Given the description of an element on the screen output the (x, y) to click on. 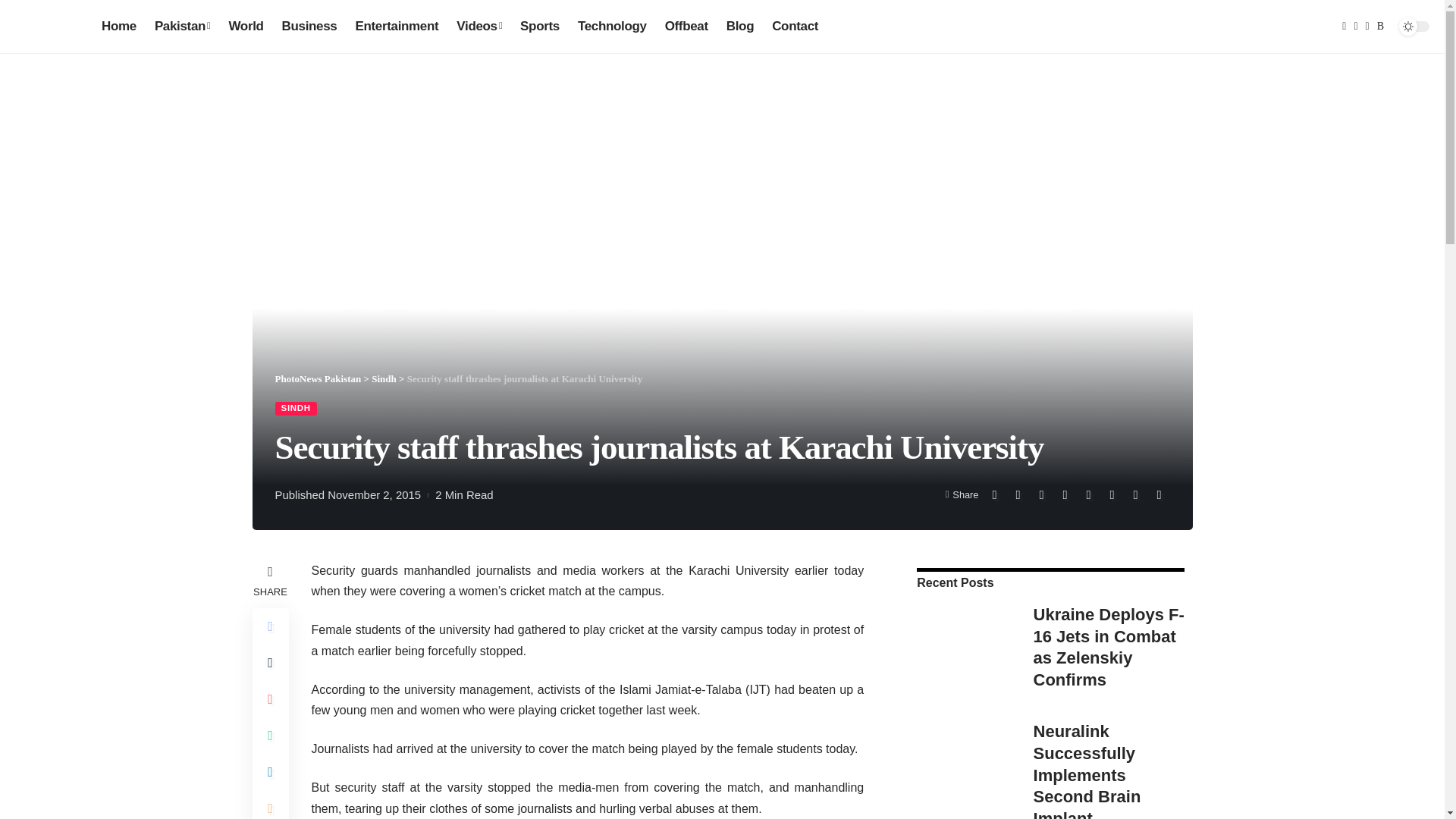
Business (309, 26)
Go to PhotoNews Pakistan. (318, 378)
Technology (612, 26)
Home (119, 26)
Entertainment (396, 26)
Blog (739, 26)
Ukraine Deploys F-16 Jets in Combat as Zelenskiy Confirms (963, 647)
Pakistan (182, 26)
Contact (794, 26)
Videos (478, 26)
Go to the Sindh Category archives. (383, 378)
Neuralink Successfully Implements Second Brain Implant (963, 775)
World (245, 26)
Sports (540, 26)
Offbeat (686, 26)
